Given the description of an element on the screen output the (x, y) to click on. 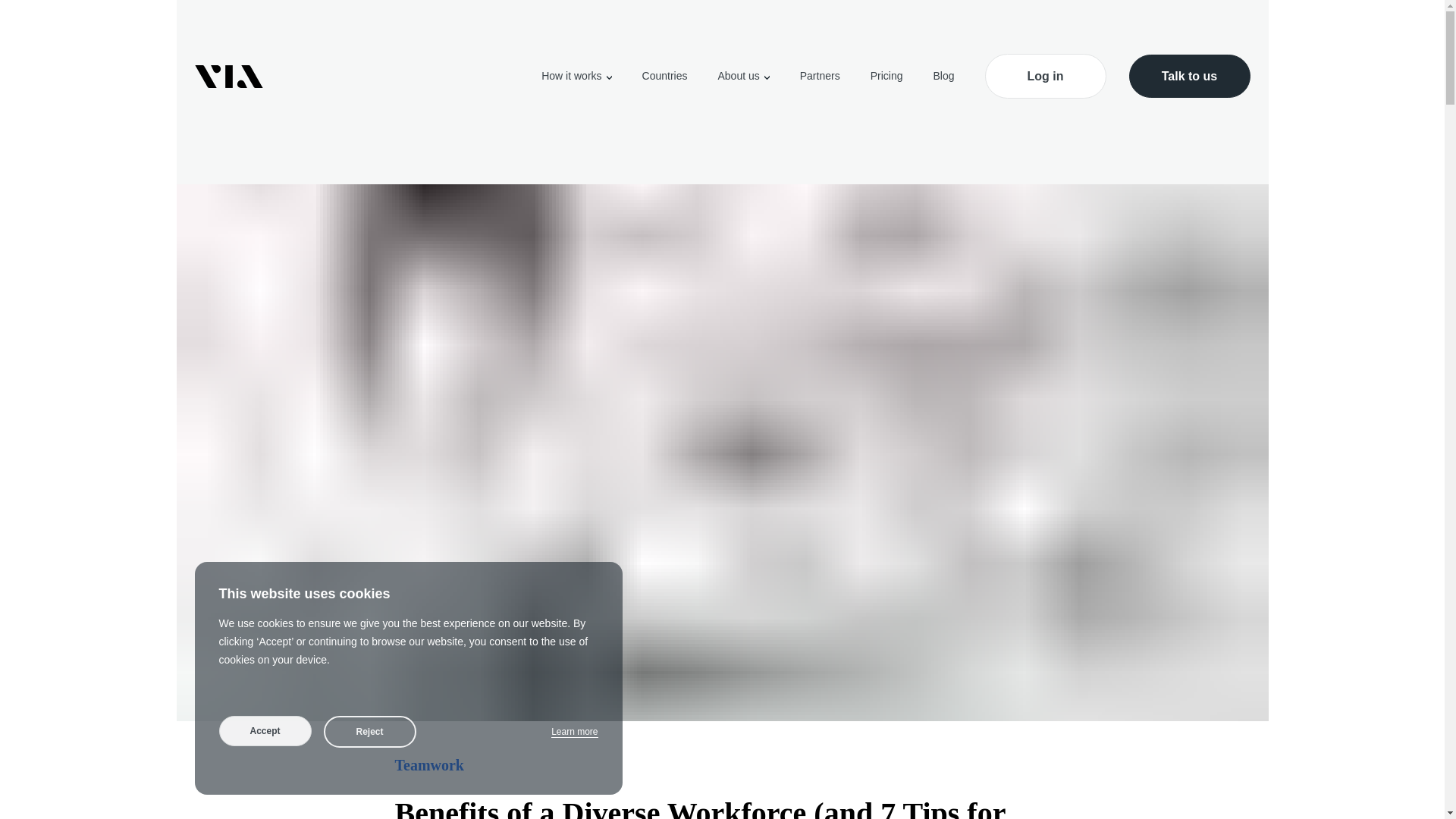
Reject (368, 731)
Partners (819, 75)
Blog (943, 75)
Accept (264, 730)
Pricing (886, 75)
Log in (1044, 76)
Talk to us (1188, 75)
Learn more (573, 731)
Countries (664, 75)
